Given the description of an element on the screen output the (x, y) to click on. 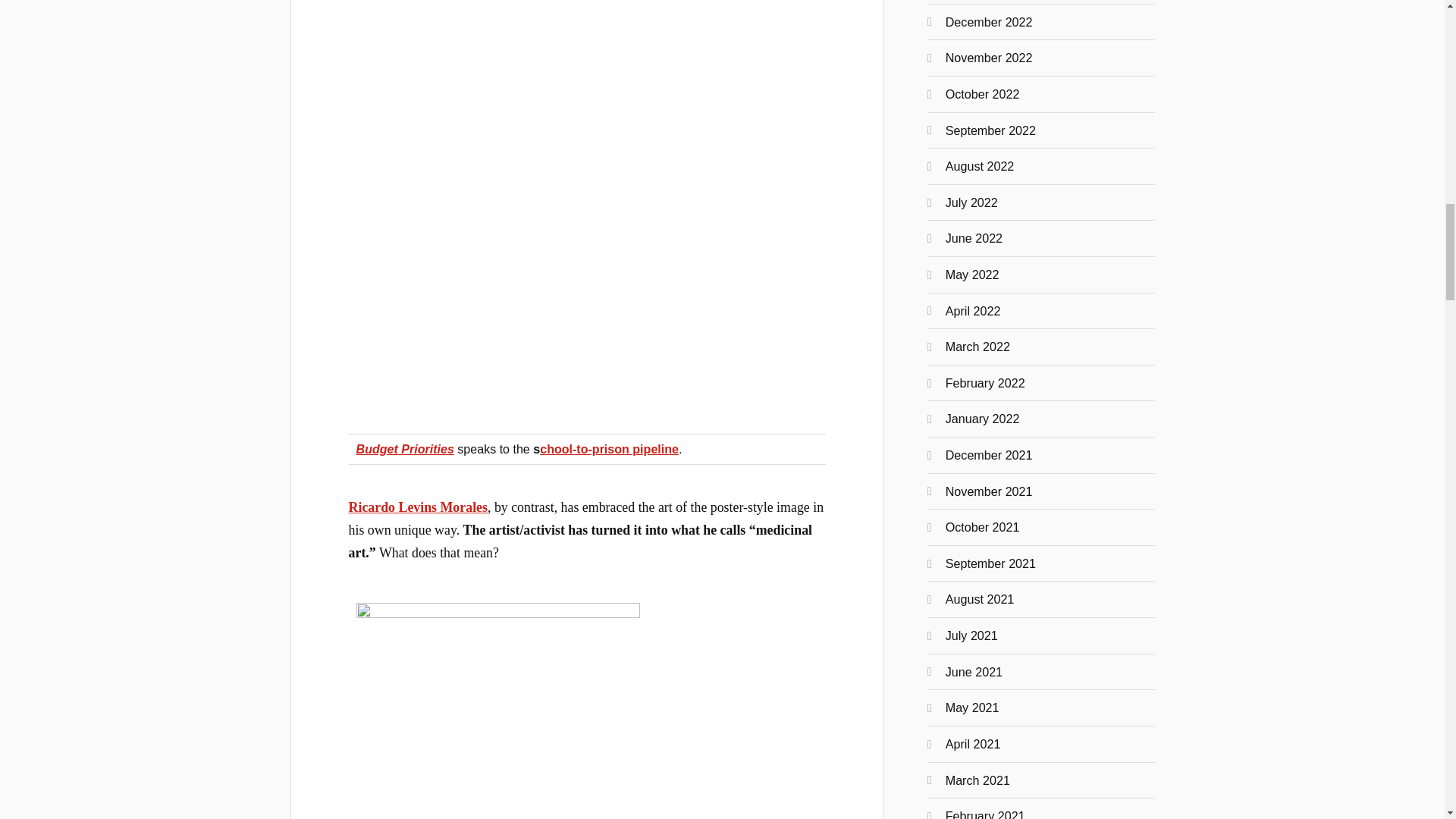
chool-to-prison pipeline (609, 448)
Ricardo Levins Morales (418, 507)
Budget Priorities (405, 448)
